Given the description of an element on the screen output the (x, y) to click on. 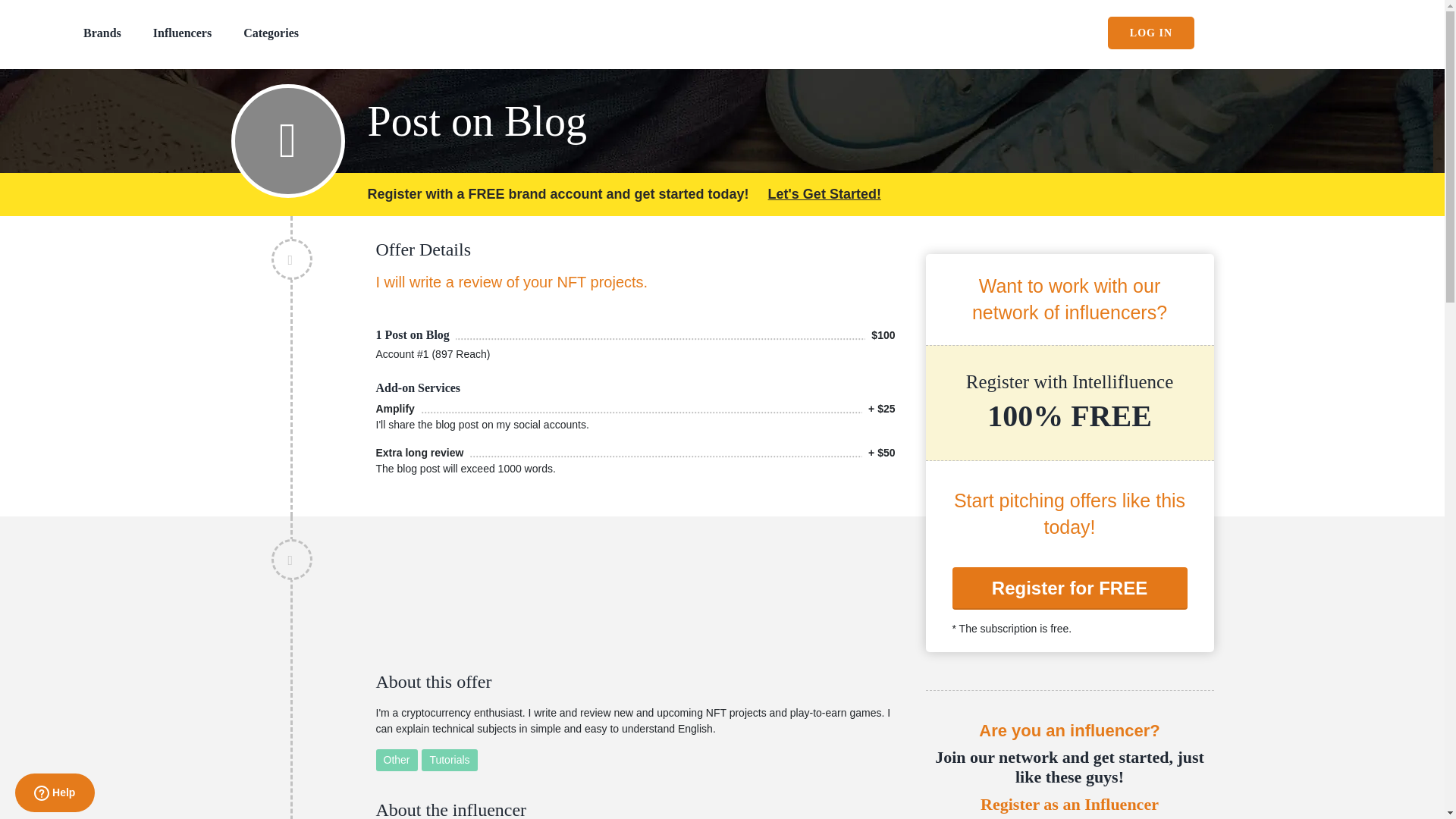
Let's Get Started! (824, 194)
LOG IN (1150, 31)
Register as an Influencer (1068, 804)
Register for FREE (1070, 588)
Categories (270, 31)
Other (396, 760)
Tutorials (449, 760)
Influencers (181, 31)
Brands (101, 31)
Post on Blog (789, 115)
